Given the description of an element on the screen output the (x, y) to click on. 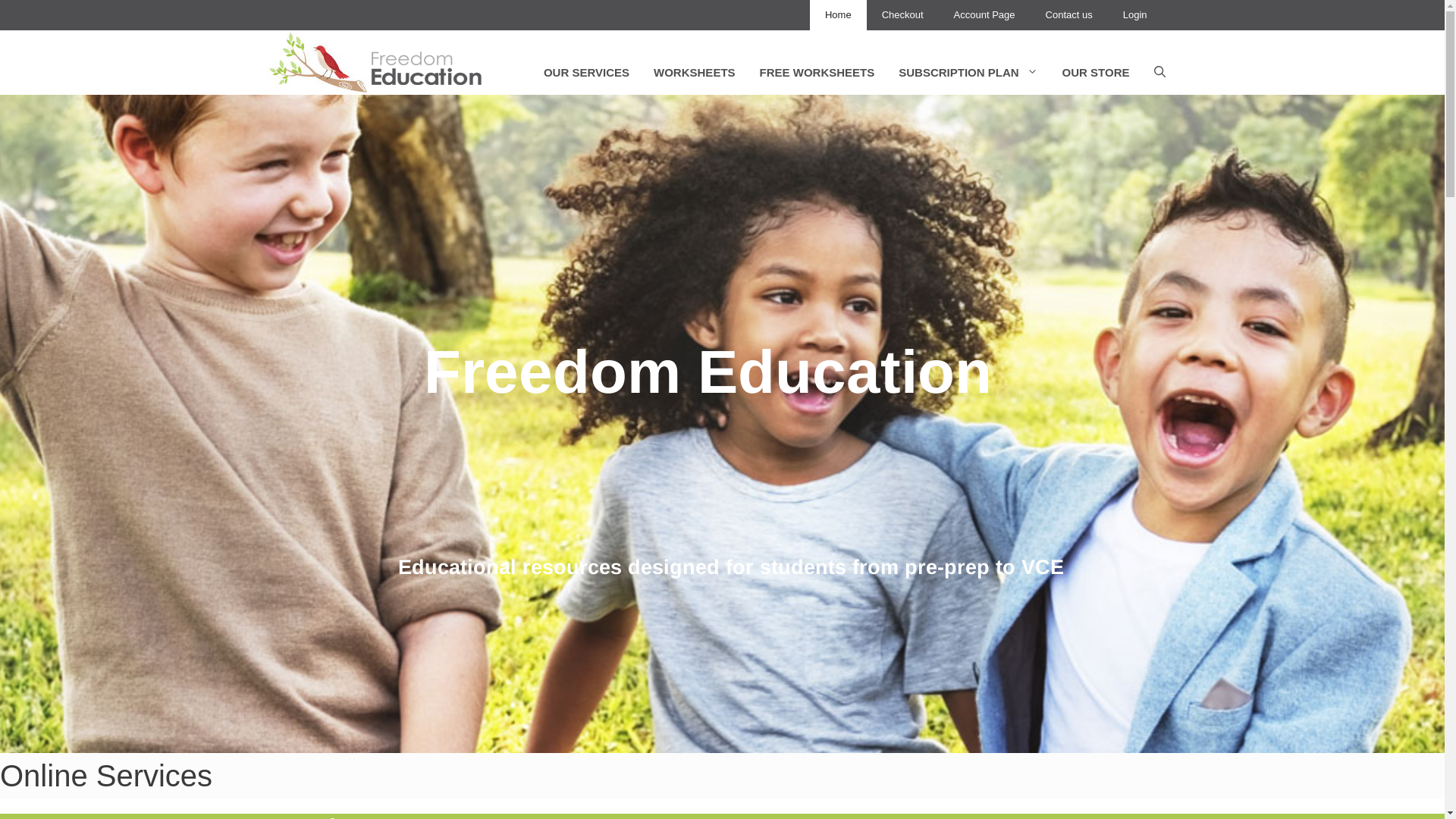
SUBSCRIPTION PLAN Element type: text (967, 72)
Home Element type: text (837, 15)
FREE WORKSHEETS Element type: text (817, 72)
WORKSHEETS Element type: text (694, 72)
Checkout Element type: text (902, 15)
OUR STORE Element type: text (1096, 72)
Contact us Element type: text (1068, 15)
Login Element type: text (1134, 15)
Account Page Element type: text (984, 15)
OUR SERVICES Element type: text (586, 72)
